Given the description of an element on the screen output the (x, y) to click on. 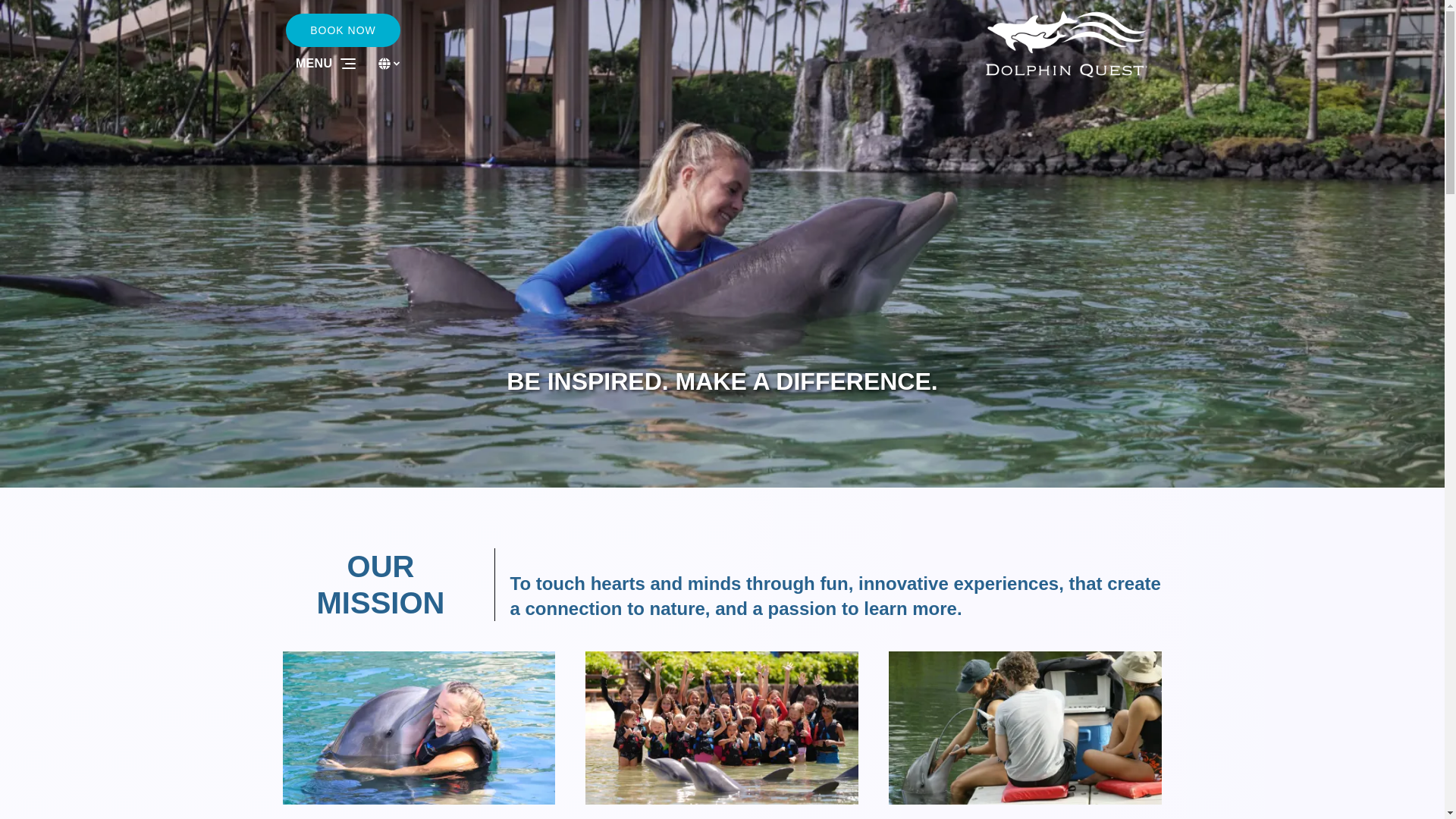
Skip to footer (42, 16)
Skip to primary navigation (77, 16)
Skip to content (47, 16)
